Given the description of an element on the screen output the (x, y) to click on. 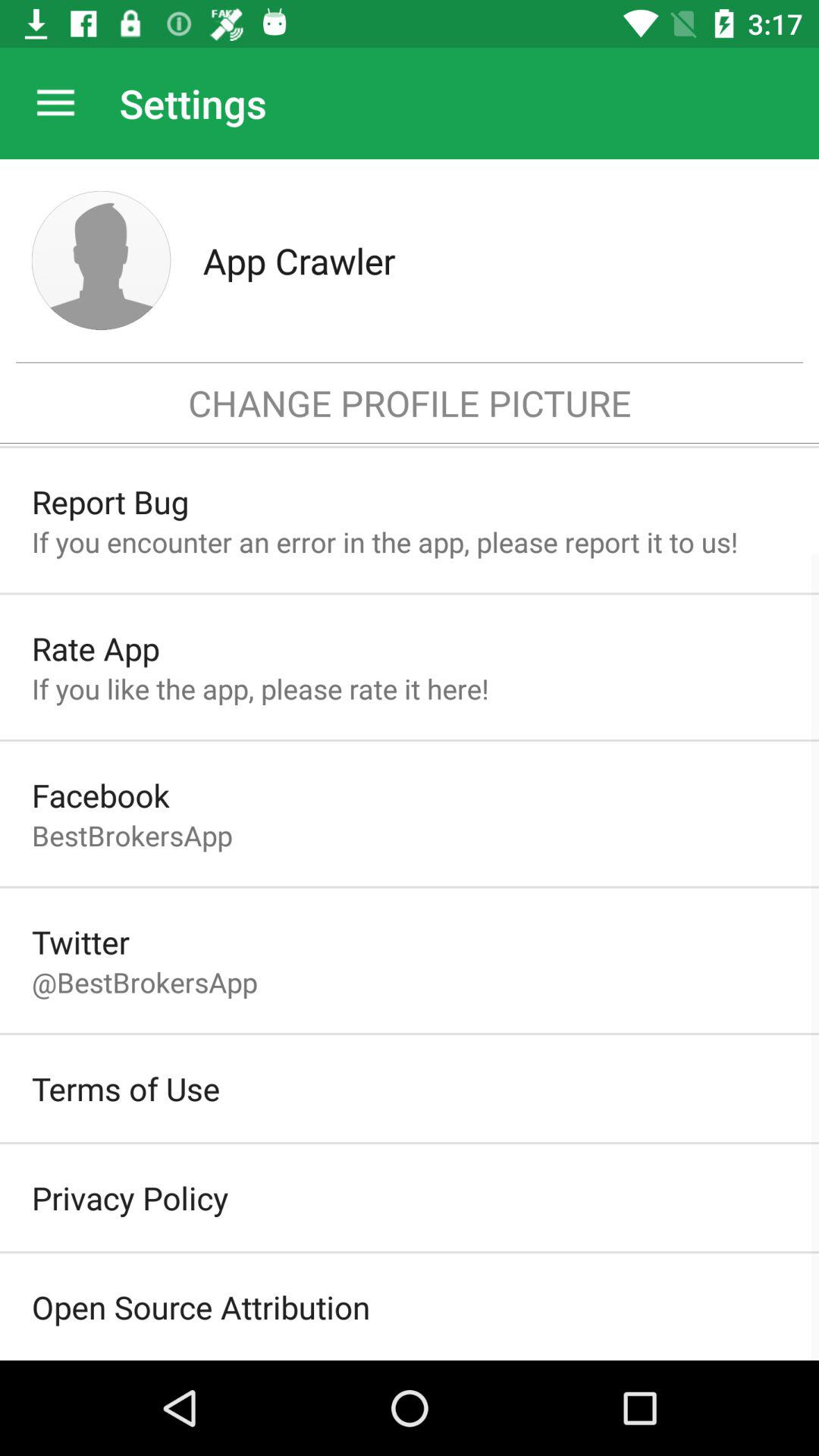
open the item next to app crawler (101, 260)
